Given the description of an element on the screen output the (x, y) to click on. 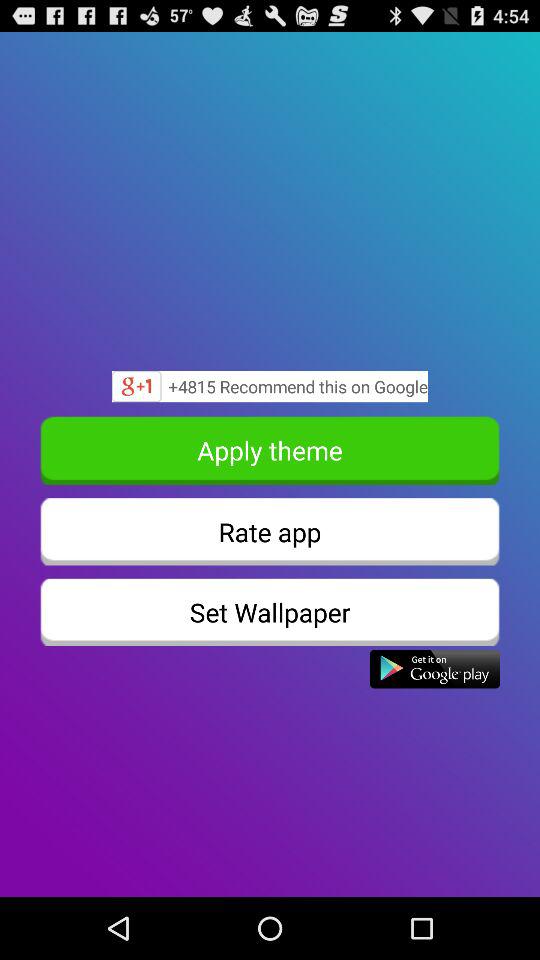
press the item below apply theme item (269, 531)
